Given the description of an element on the screen output the (x, y) to click on. 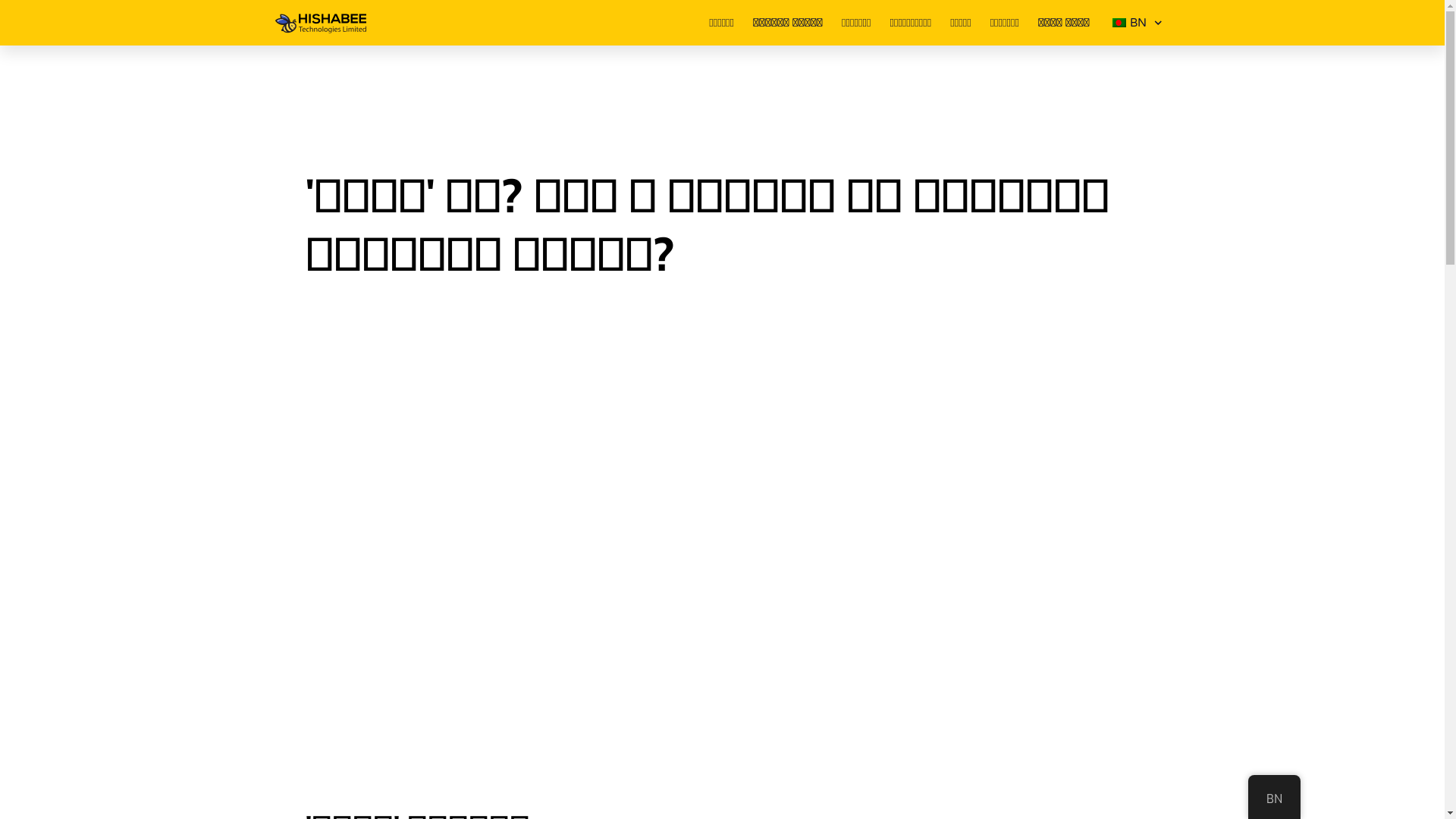
BN Element type: text (1135, 22)
